Given the description of an element on the screen output the (x, y) to click on. 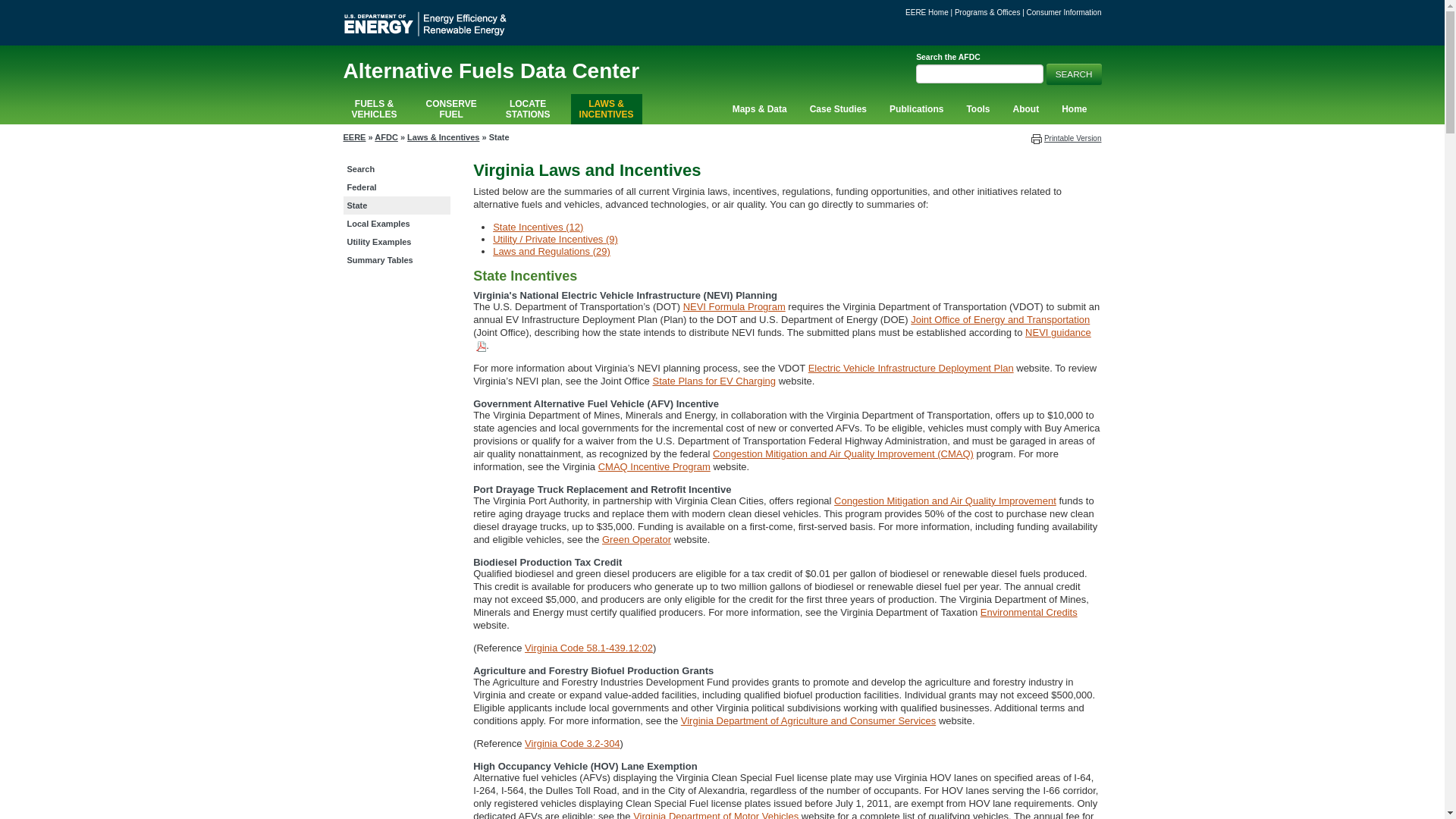
SEARCH (528, 109)
Consumer Information (450, 109)
Alternative Fuels Data Center (1074, 74)
EERE Home (1064, 12)
